Given the description of an element on the screen output the (x, y) to click on. 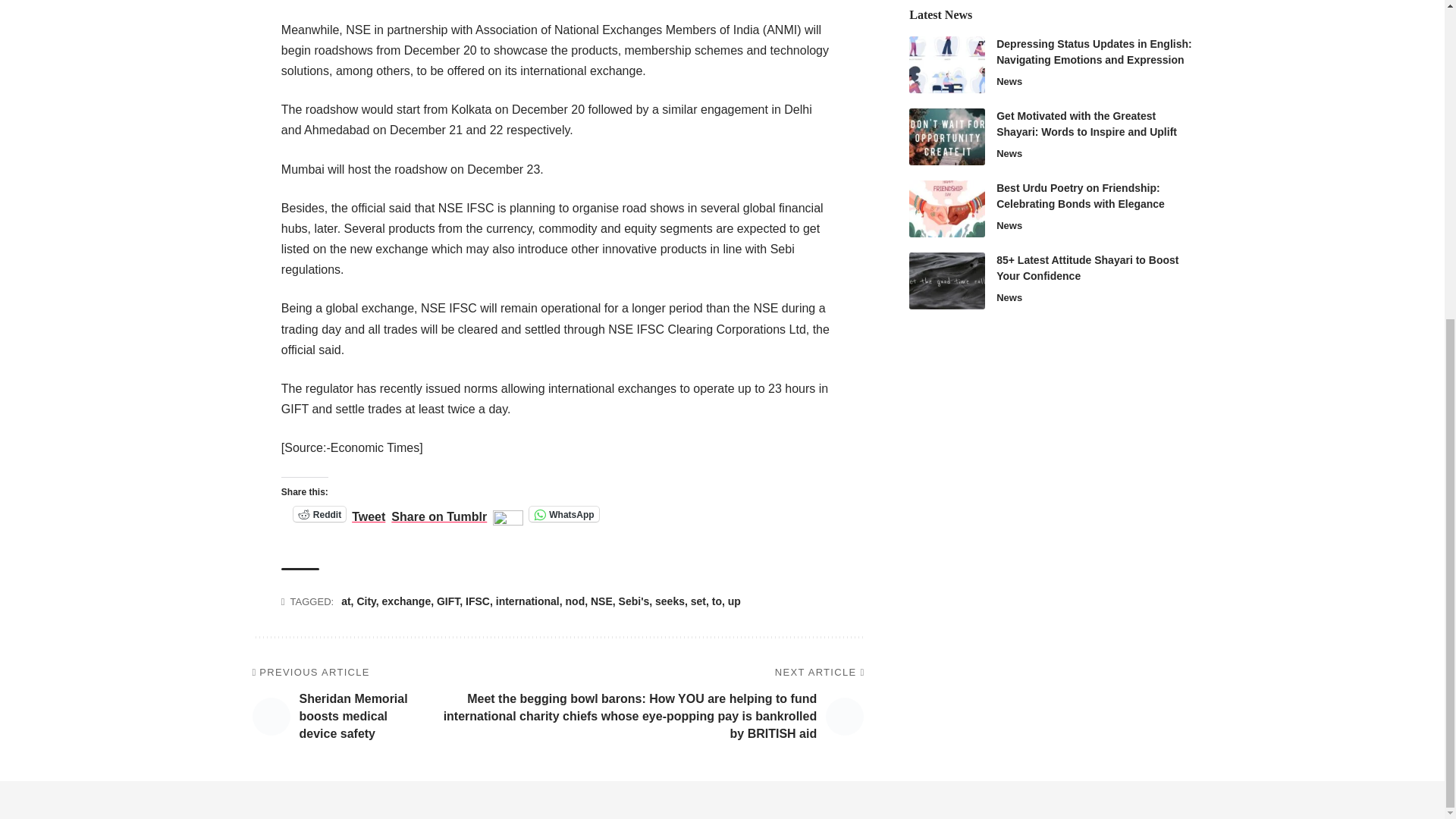
Click to share on WhatsApp (563, 513)
Click to share on Reddit (320, 513)
Share on Tumblr (438, 513)
